Given the description of an element on the screen output the (x, y) to click on. 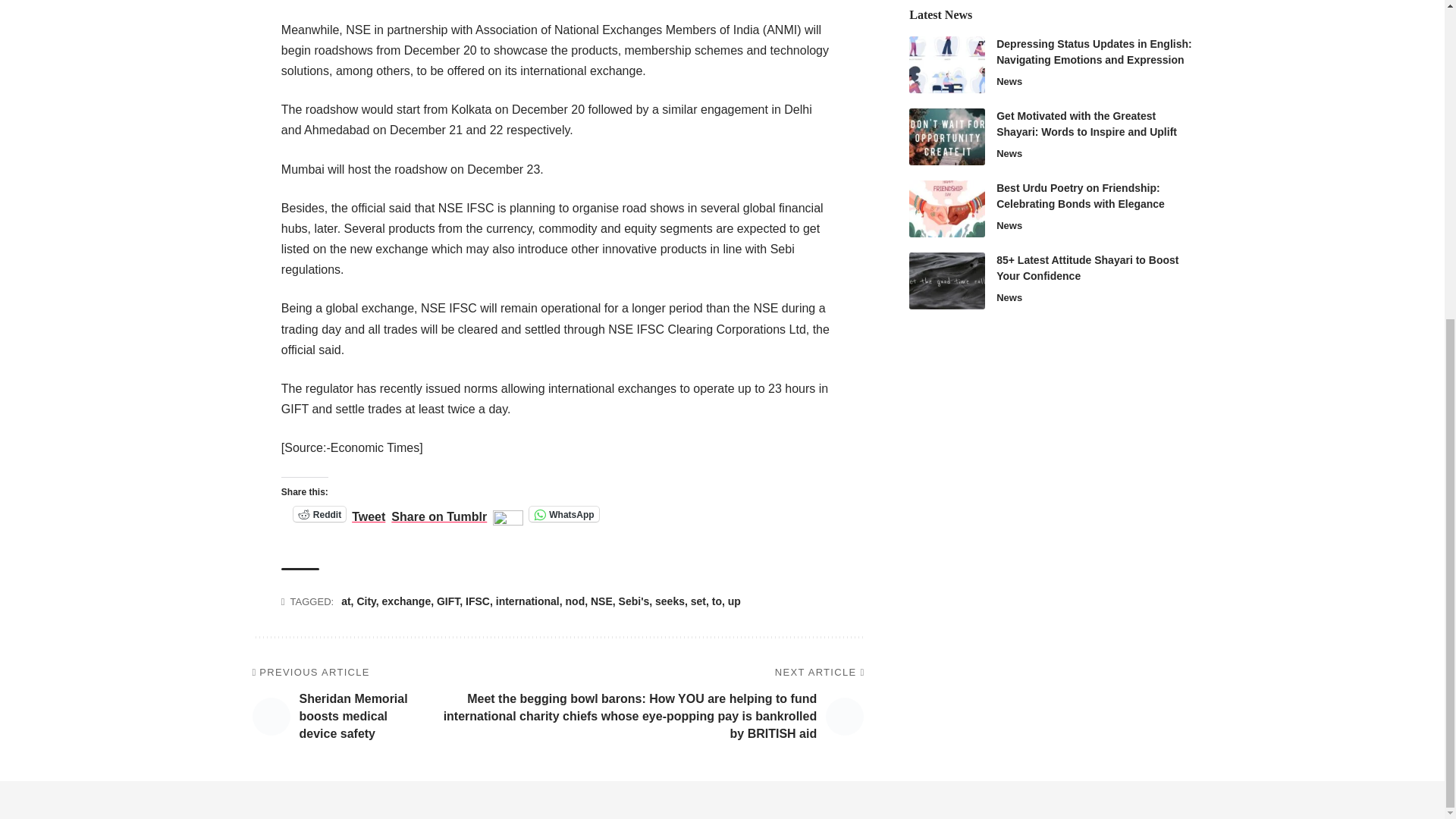
Click to share on WhatsApp (563, 513)
Click to share on Reddit (320, 513)
Share on Tumblr (438, 513)
